Given the description of an element on the screen output the (x, y) to click on. 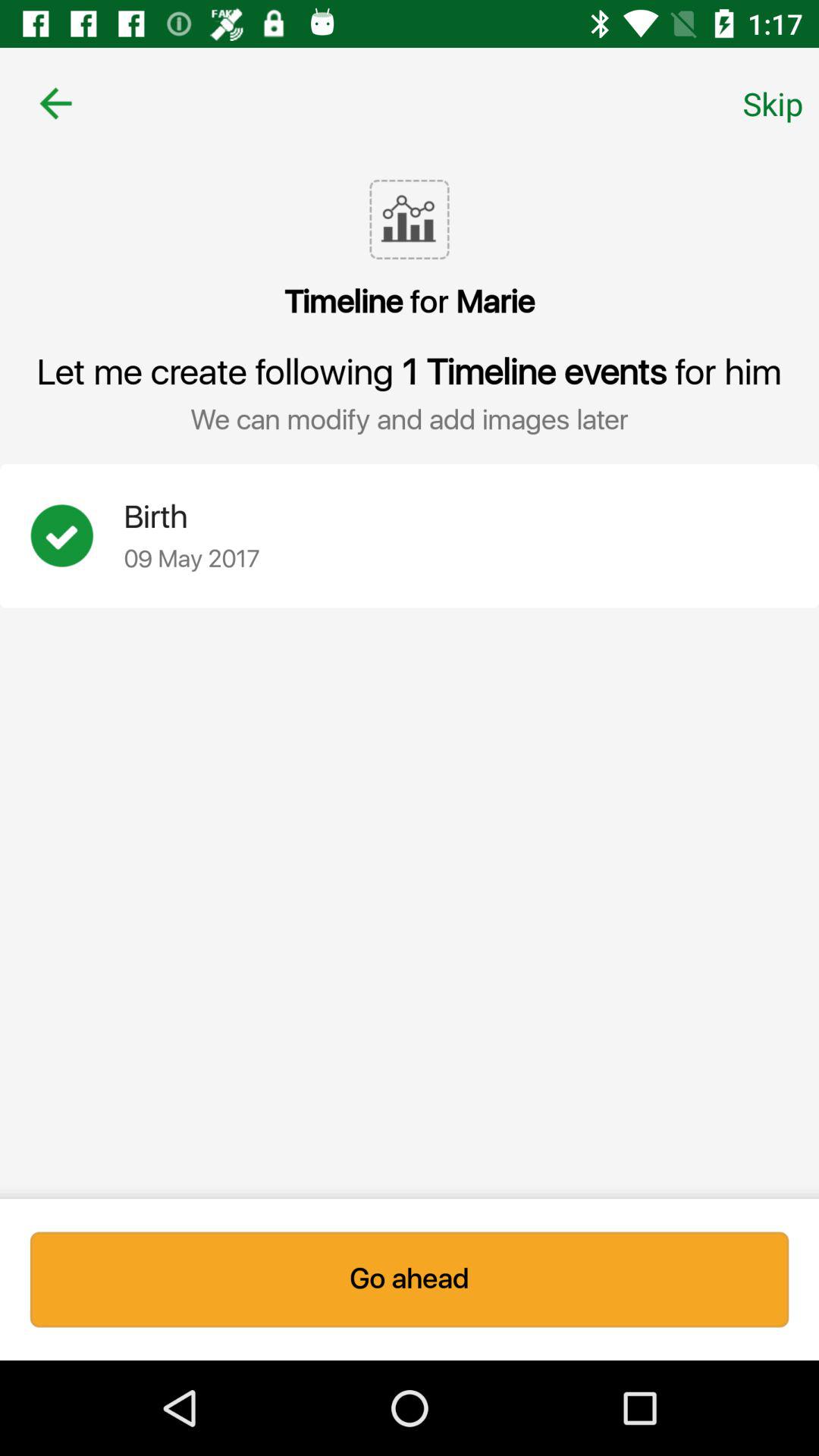
open icon below the let me create (76, 535)
